Given the description of an element on the screen output the (x, y) to click on. 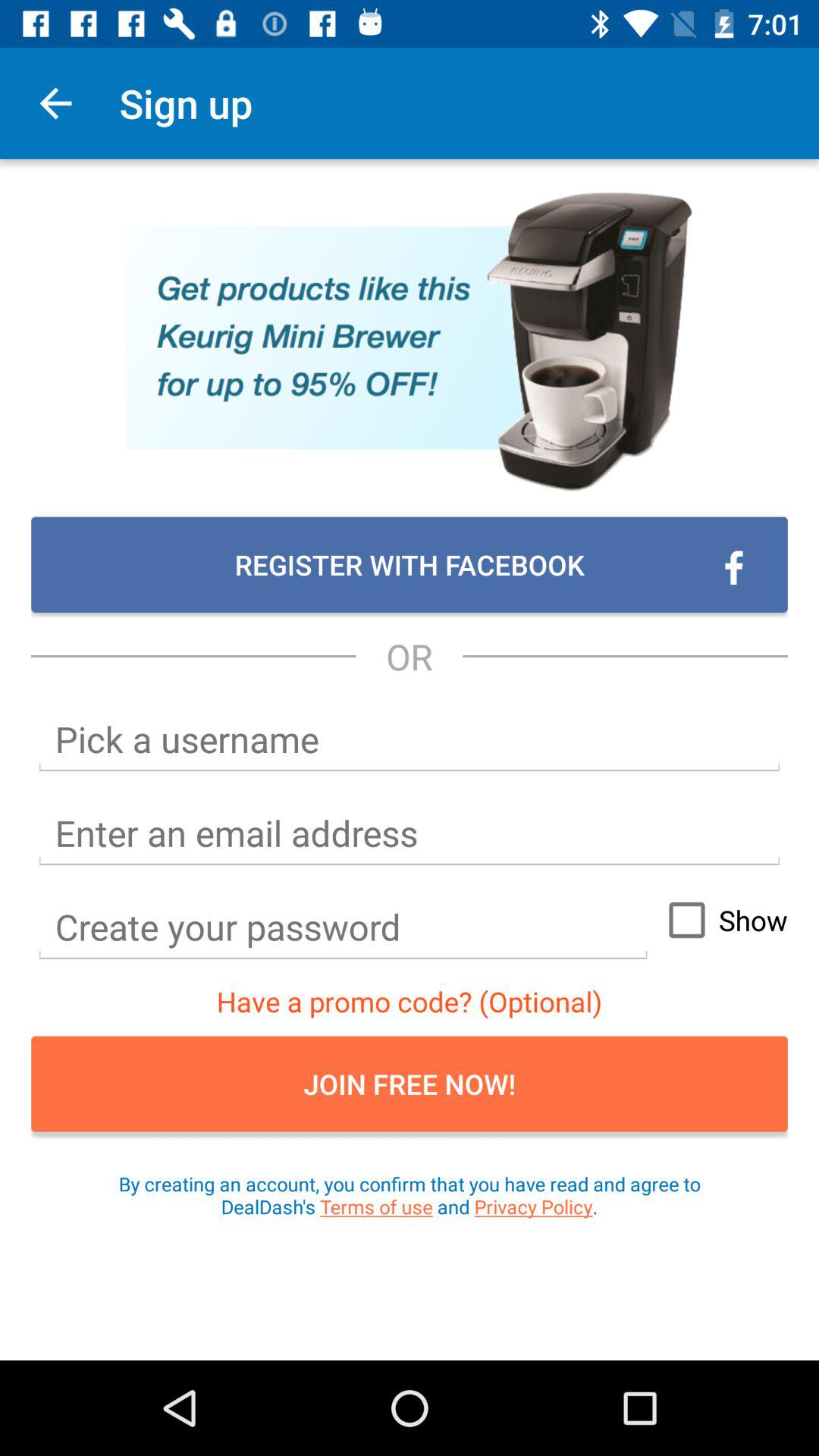
turn on the register with facebook icon (409, 564)
